Given the description of an element on the screen output the (x, y) to click on. 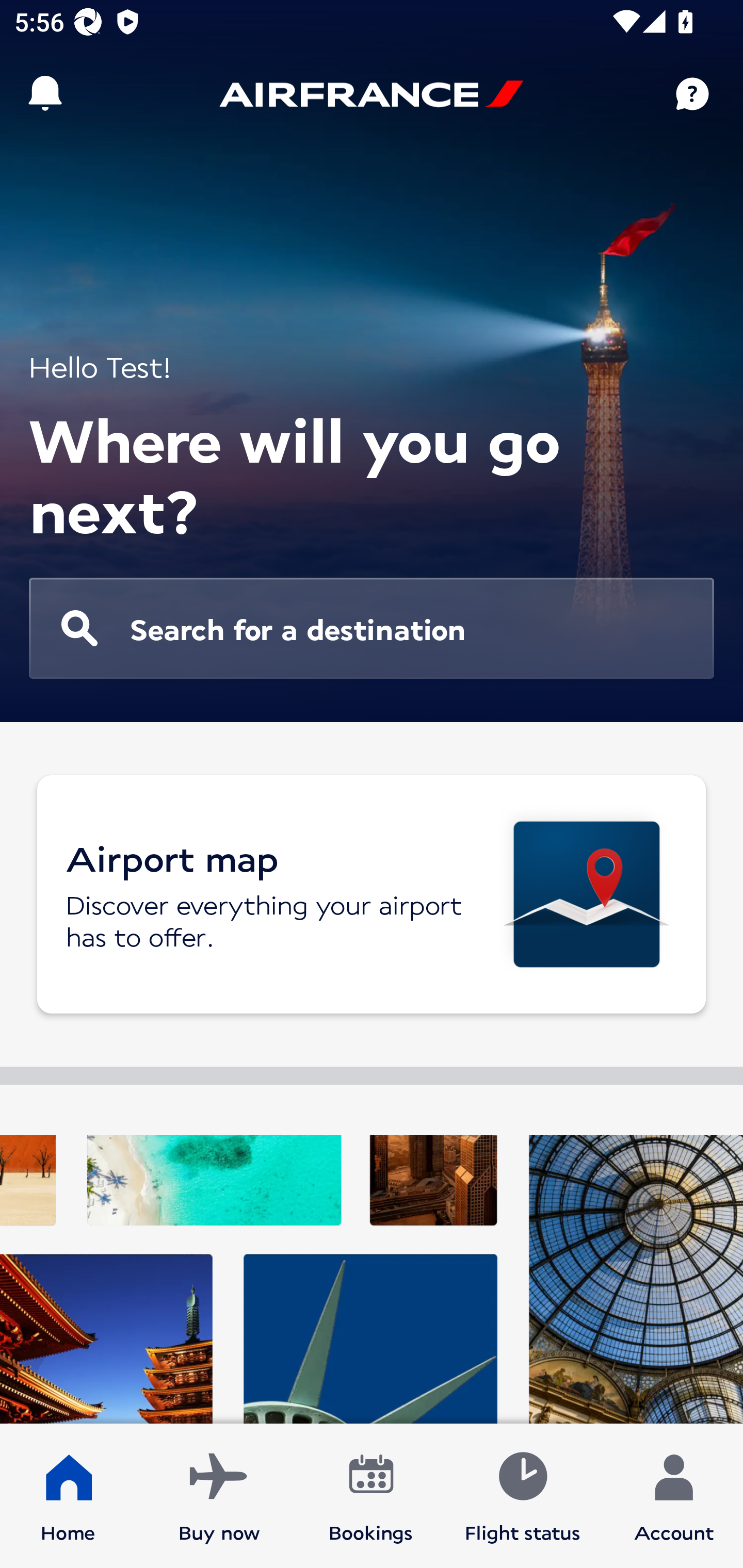
Search for a destination (371, 627)
Buy now (219, 1495)
Bookings (370, 1495)
Flight status (522, 1495)
Account (674, 1495)
